Given the description of an element on the screen output the (x, y) to click on. 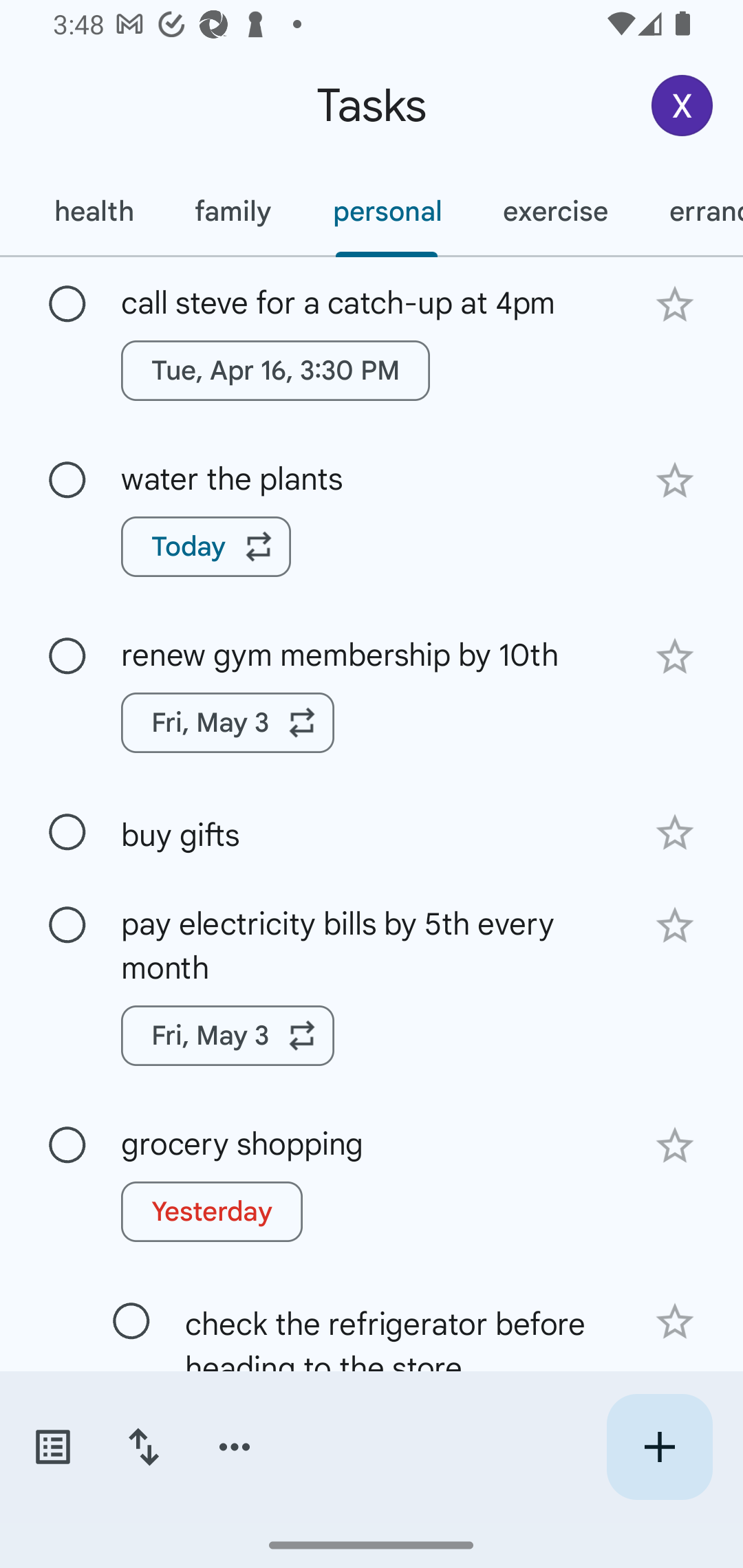
health (93, 211)
family (232, 211)
exercise (554, 211)
errands (690, 211)
Add star (674, 303)
Mark as complete (67, 304)
Tue, Apr 16, 3:30 PM (275, 369)
Add star (674, 480)
Mark as complete (67, 480)
Today (206, 546)
Add star (674, 656)
Mark as complete (67, 655)
Fri, May 3 (227, 722)
buy gifts buy gifts Add star Mark as complete (371, 831)
Add star (674, 832)
Mark as complete (67, 833)
Add star (674, 924)
Mark as complete (67, 925)
Fri, May 3 (227, 1035)
Add star (674, 1145)
Mark as complete (67, 1145)
Yesterday (211, 1211)
Add star (674, 1321)
Mark as complete (131, 1321)
Switch task lists (52, 1447)
Create new task (659, 1446)
Change sort order (143, 1446)
More options (234, 1446)
